Given the description of an element on the screen output the (x, y) to click on. 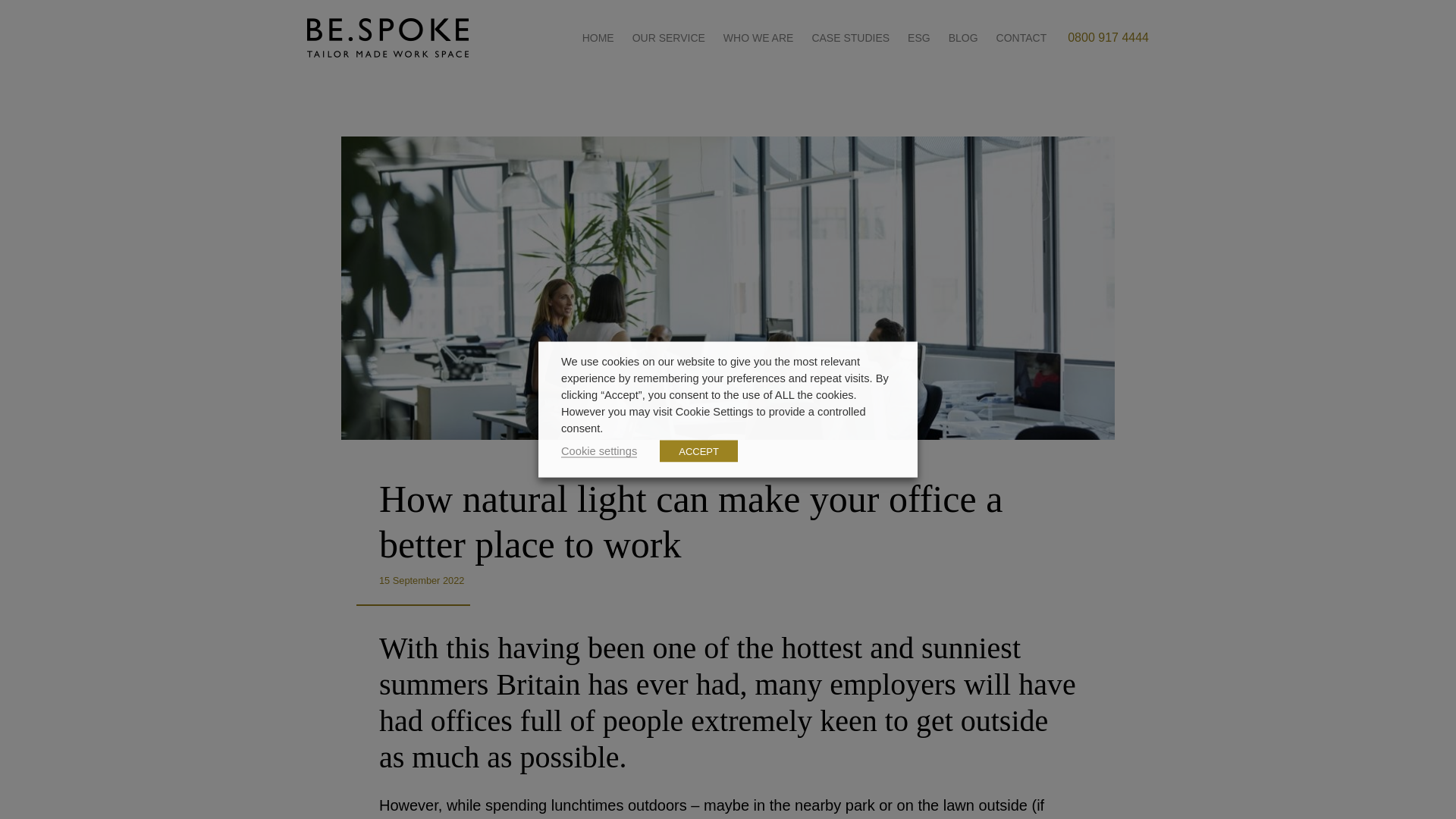
ACCEPT (698, 450)
ESG (918, 38)
Case Studies (850, 38)
Cookie settings (598, 450)
ESG (918, 38)
Who We Are (758, 38)
WHO WE ARE (758, 38)
CONTACT (1022, 38)
Blog (963, 38)
BLOG (963, 38)
Contact (1022, 38)
Our Service (668, 38)
Home (598, 38)
OUR SERVICE (668, 38)
HOME (598, 38)
